Given the description of an element on the screen output the (x, y) to click on. 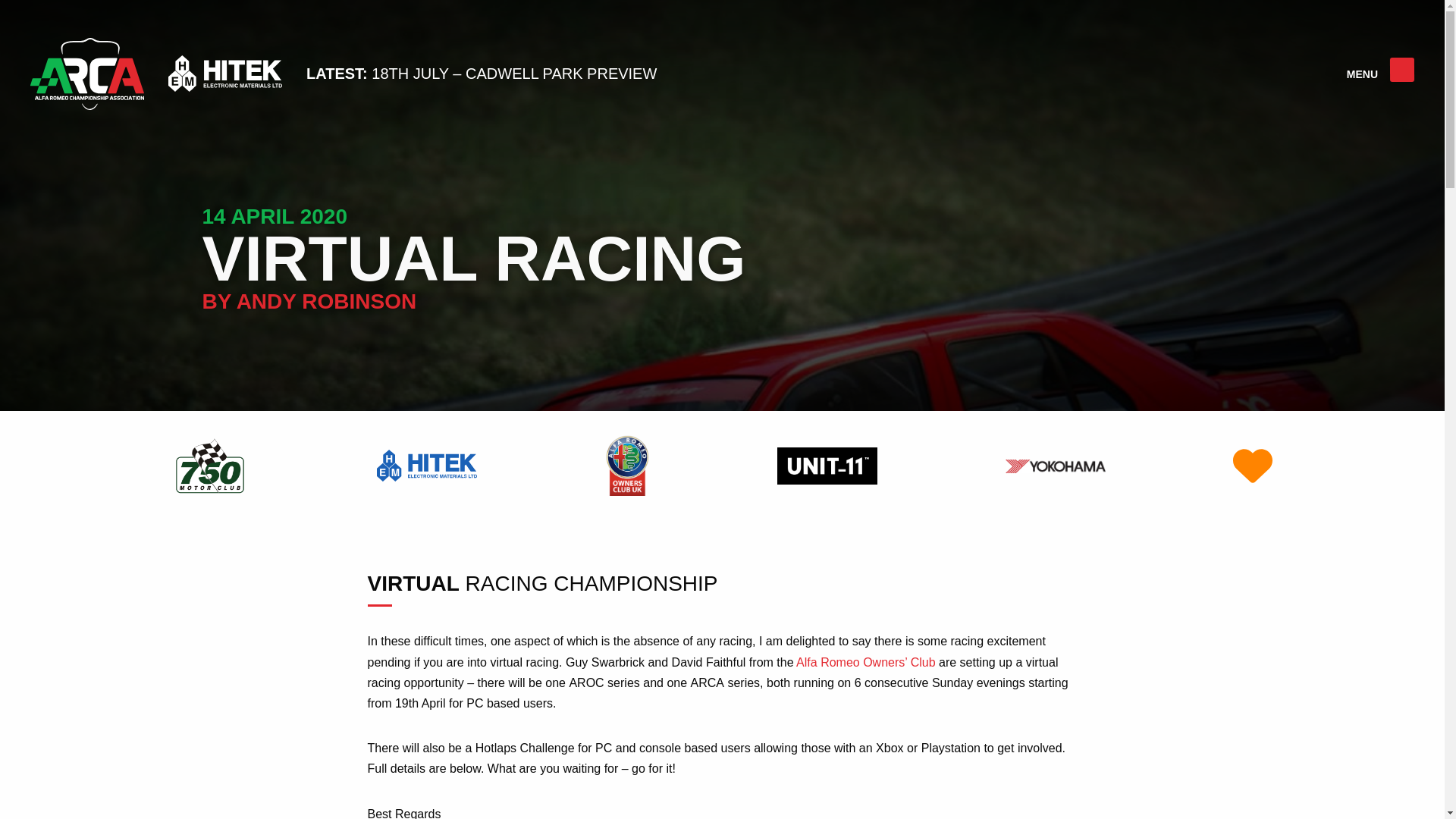
CADWELL PARK PREVIEW (560, 73)
British Motorsports Marshals Club (1252, 464)
Yokohama (1055, 464)
750 Motor Club (209, 464)
AROC (626, 464)
HITEK (426, 464)
Axis Shift (826, 464)
